Given the description of an element on the screen output the (x, y) to click on. 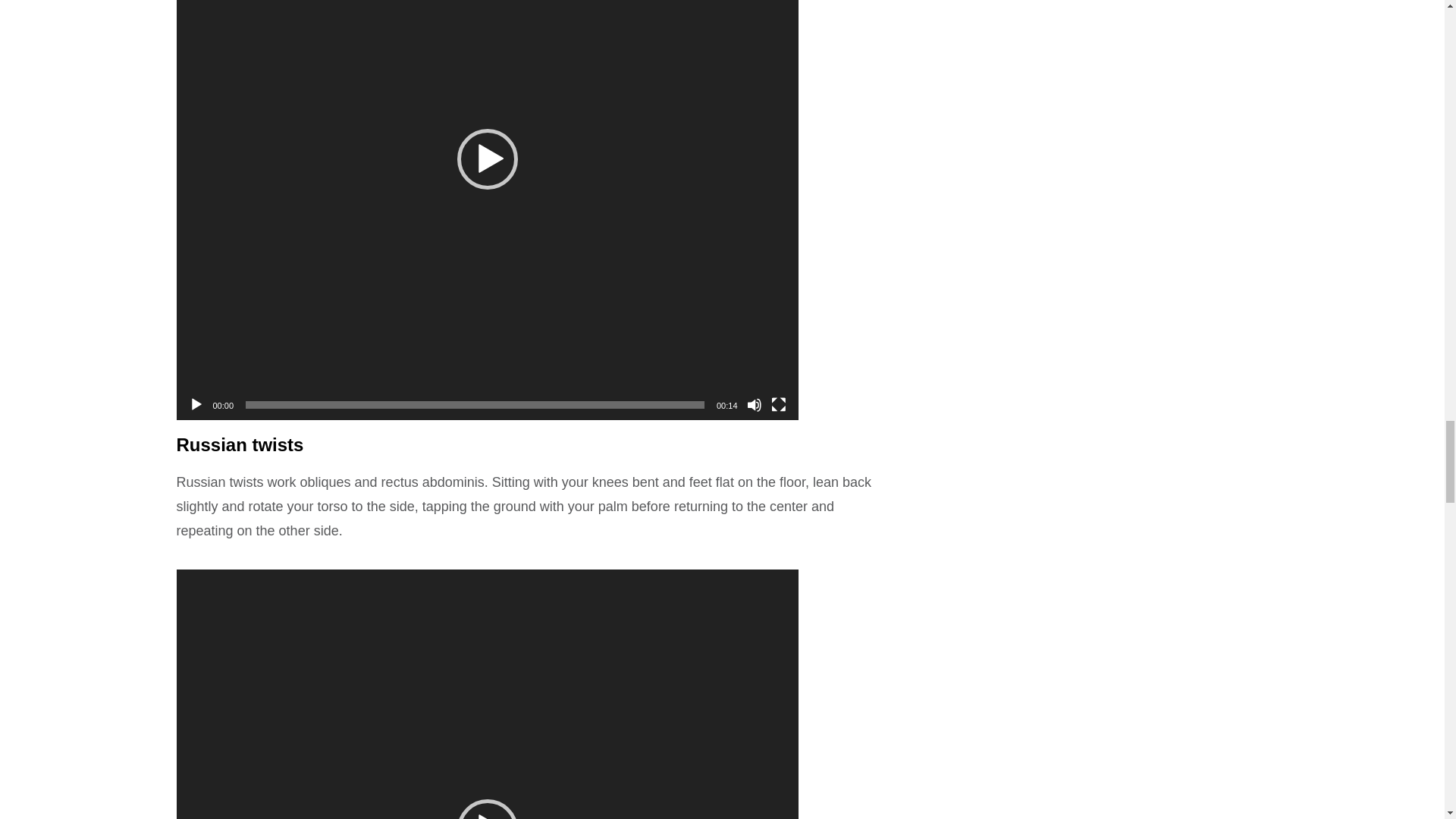
Fullscreen (778, 404)
Play (195, 404)
Mute (753, 404)
